Given the description of an element on the screen output the (x, y) to click on. 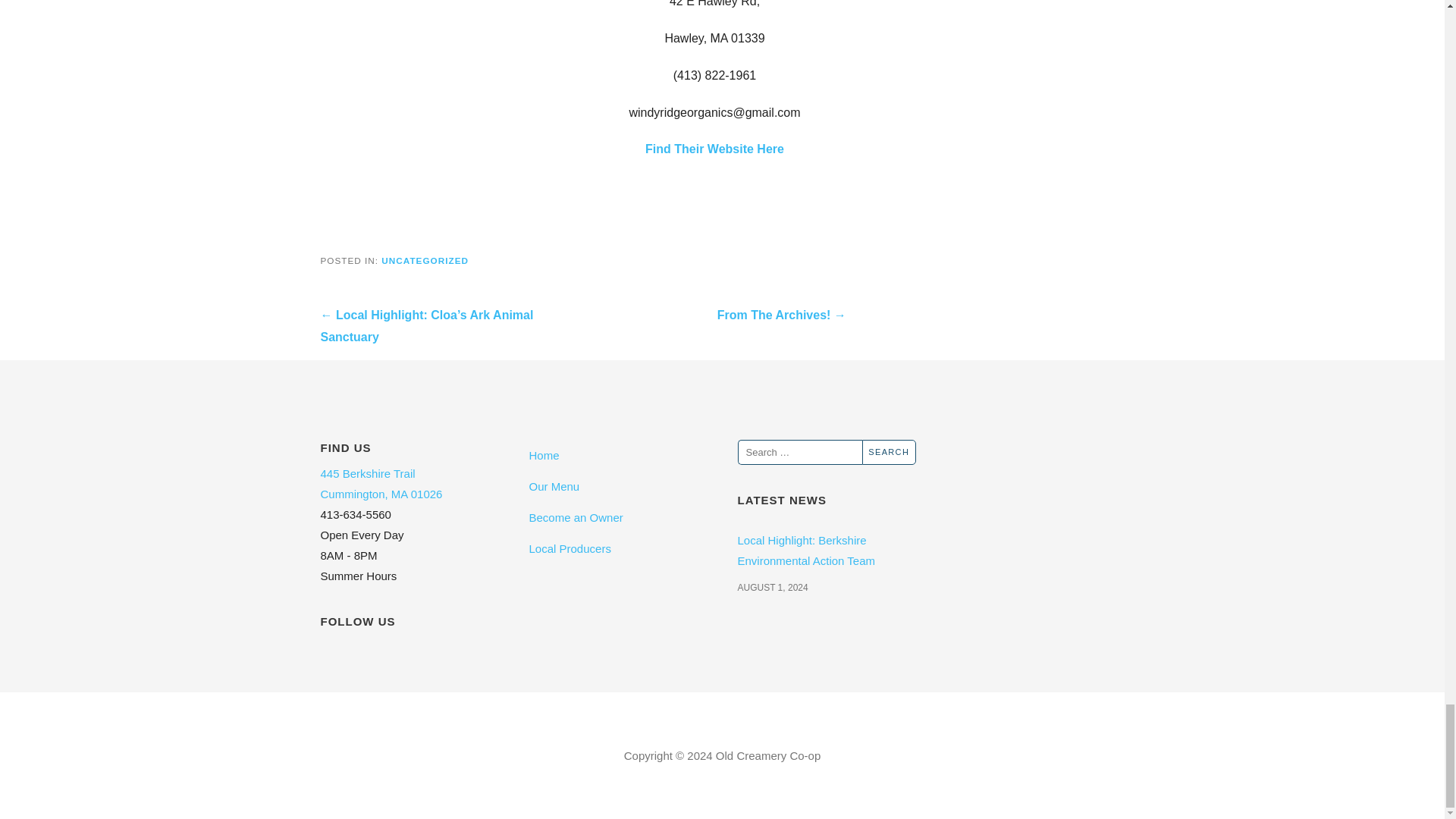
Search (888, 452)
Search (888, 452)
Find Their Website Here (714, 148)
UNCATEGORIZED (424, 260)
